Given the description of an element on the screen output the (x, y) to click on. 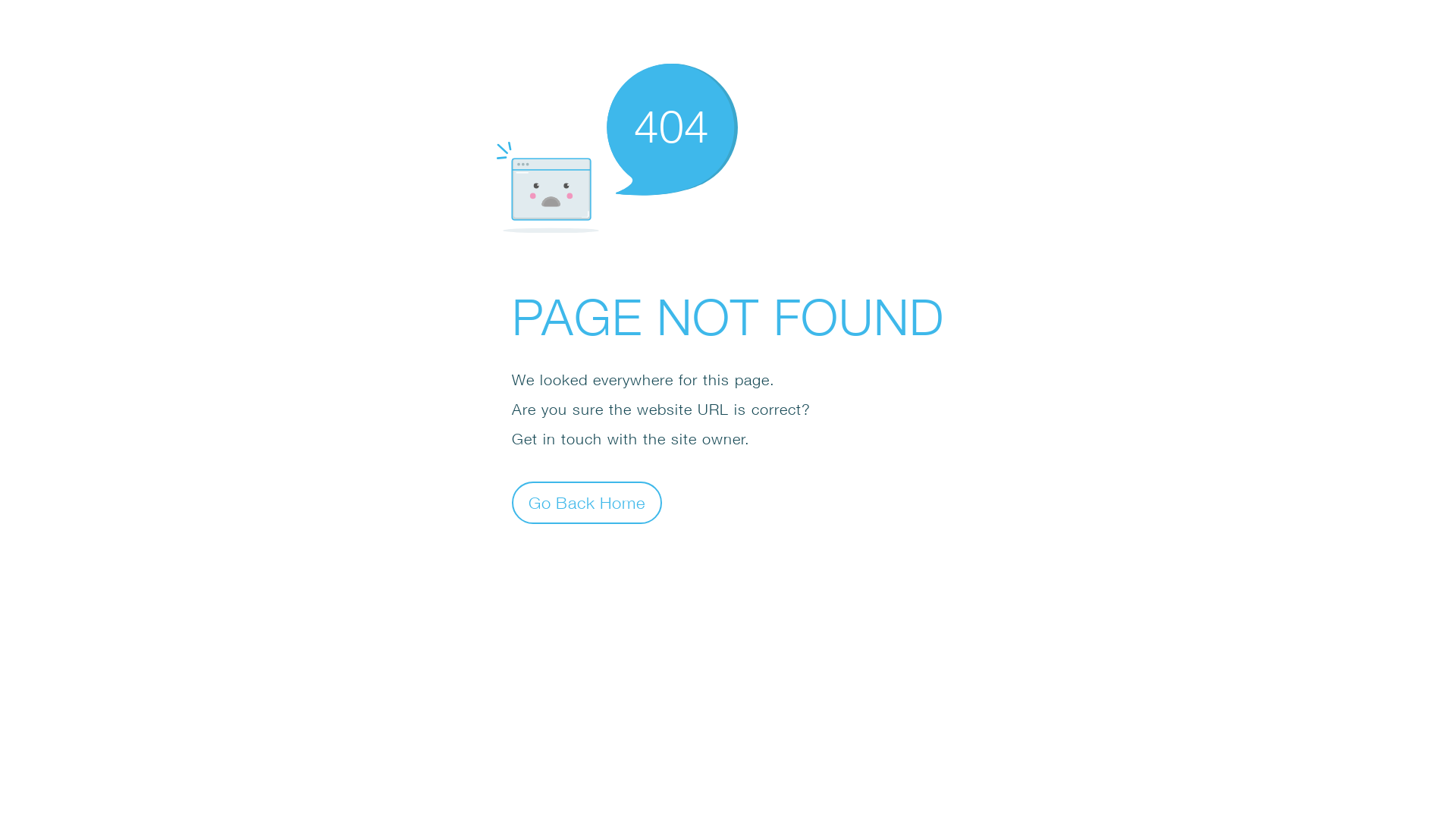
Go Back Home Element type: text (586, 502)
